Given the description of an element on the screen output the (x, y) to click on. 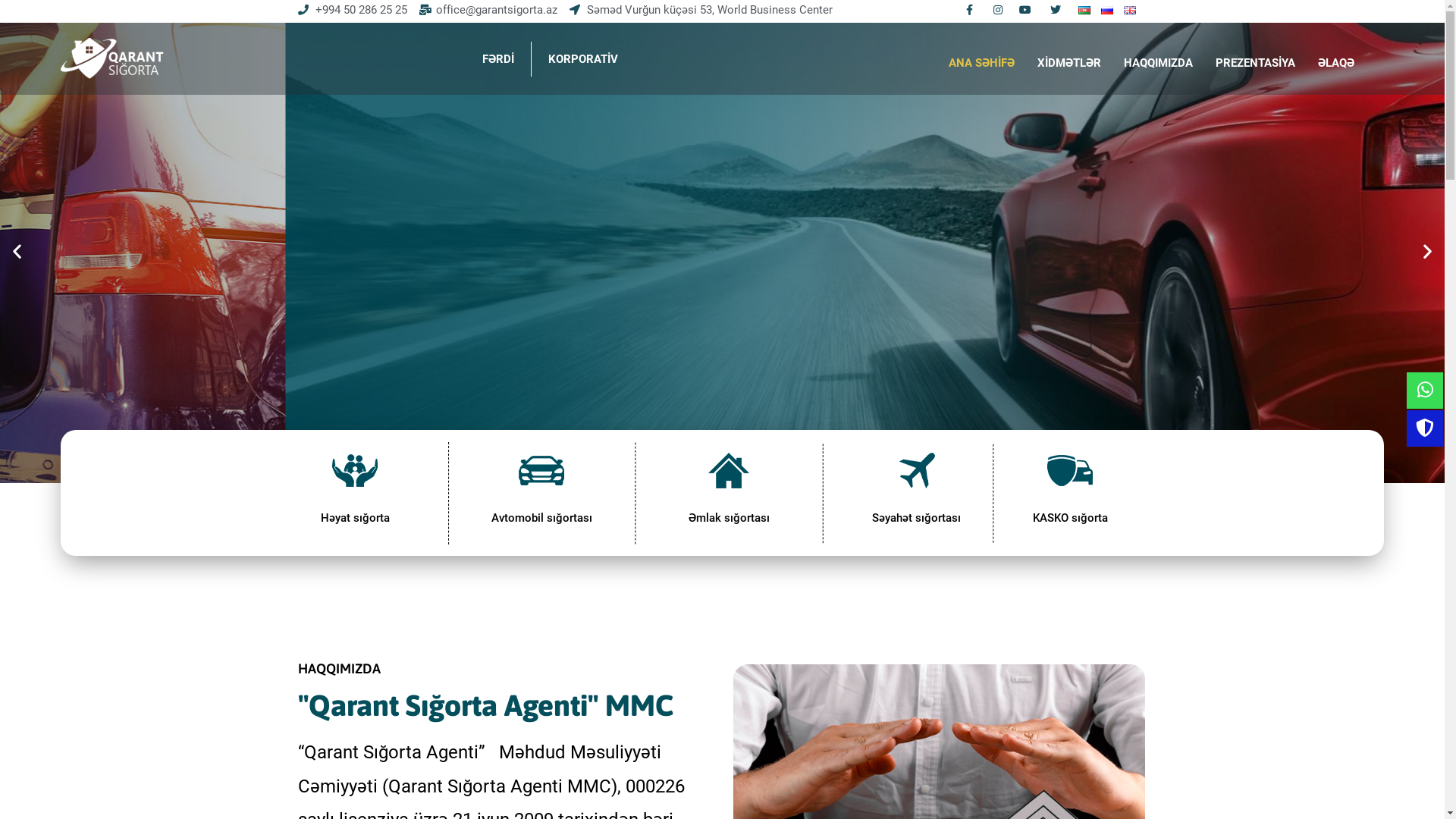
ag logo Element type: hover (112, 58)
HAQQIMIZDA Element type: text (1158, 62)
KORPORATIV Element type: text (582, 58)
PREZENTASIYA Element type: text (1255, 62)
